Given the description of an element on the screen output the (x, y) to click on. 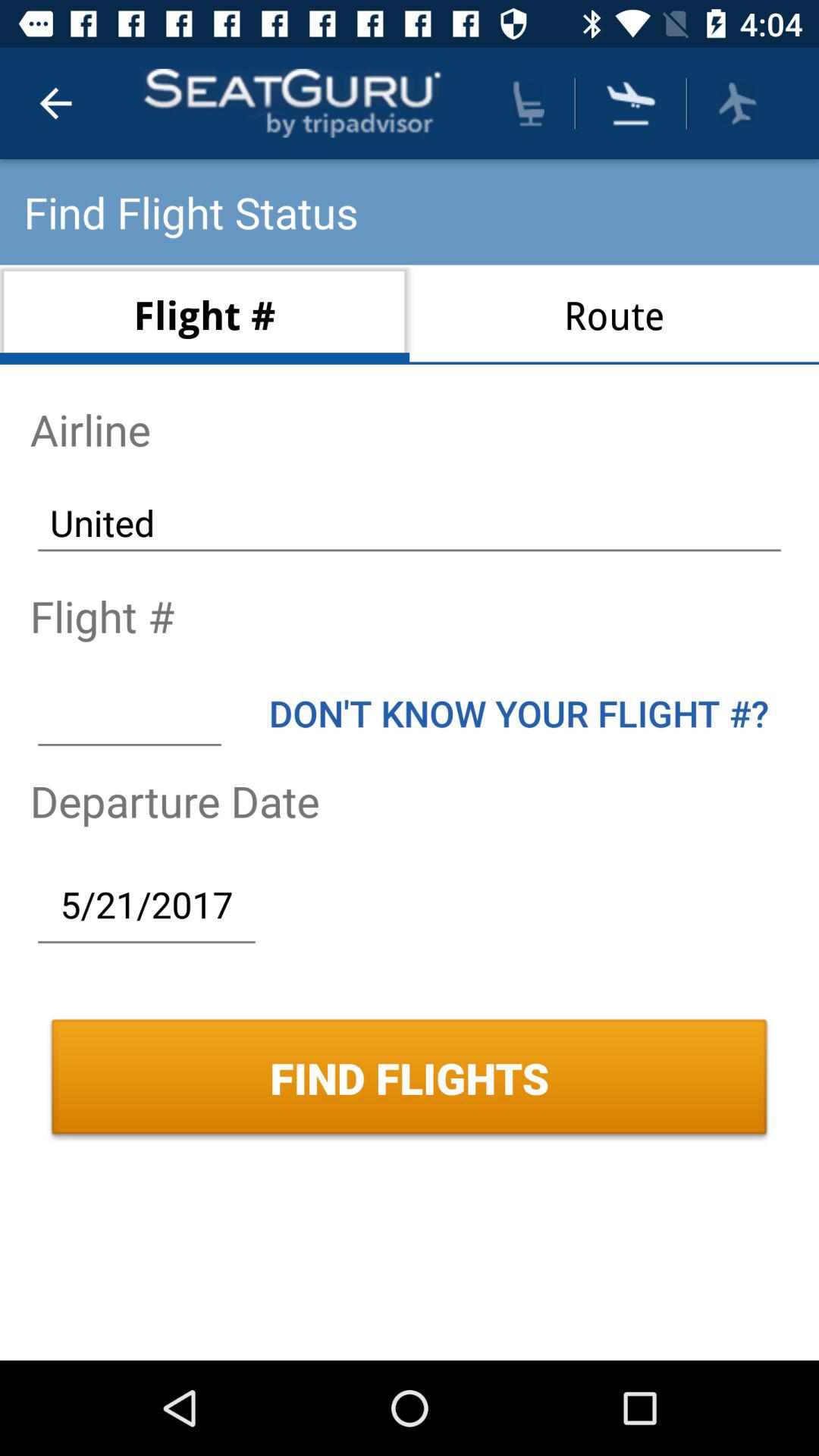
press item above departure date item (518, 712)
